Given the description of an element on the screen output the (x, y) to click on. 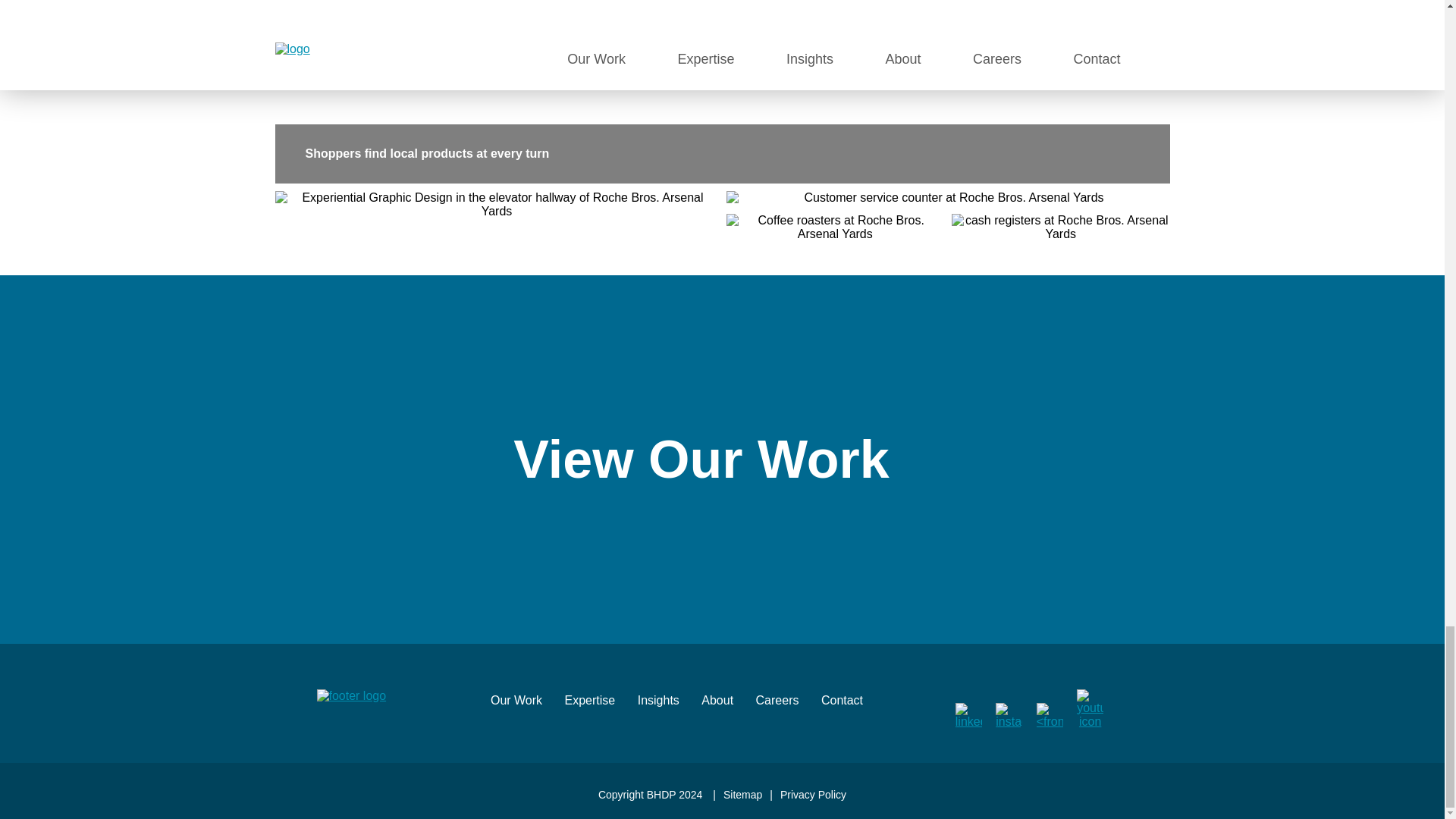
View Our Work (721, 459)
Insights (667, 706)
About (726, 706)
Our Work (525, 706)
Contact (851, 706)
Careers (786, 706)
Expertise (599, 706)
